Given the description of an element on the screen output the (x, y) to click on. 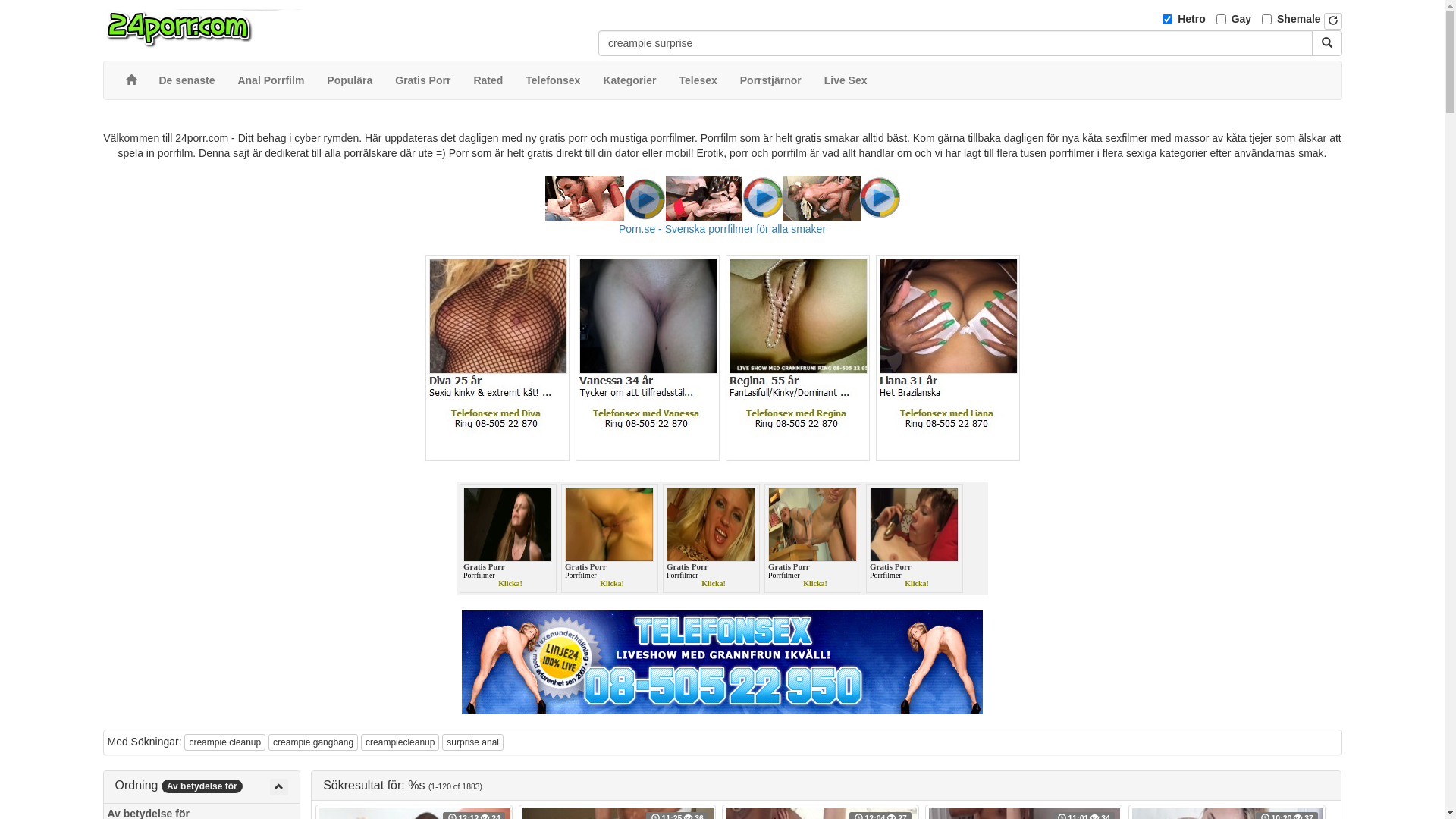
creampie gangbang Element type: text (312, 742)
Telefonsex Element type: text (552, 80)
Gratis Porr Element type: text (422, 80)
Kategorier Element type: text (629, 80)
De senaste Element type: text (186, 80)
creampie cleanup Element type: text (224, 742)
Anal Porrfilm Element type: text (270, 80)
Telesex Element type: text (697, 80)
surprise anal Element type: text (472, 742)
creampiecleanup Element type: text (399, 742)
Live Sex Element type: text (845, 80)
Rated Element type: text (487, 80)
